Given the description of an element on the screen output the (x, y) to click on. 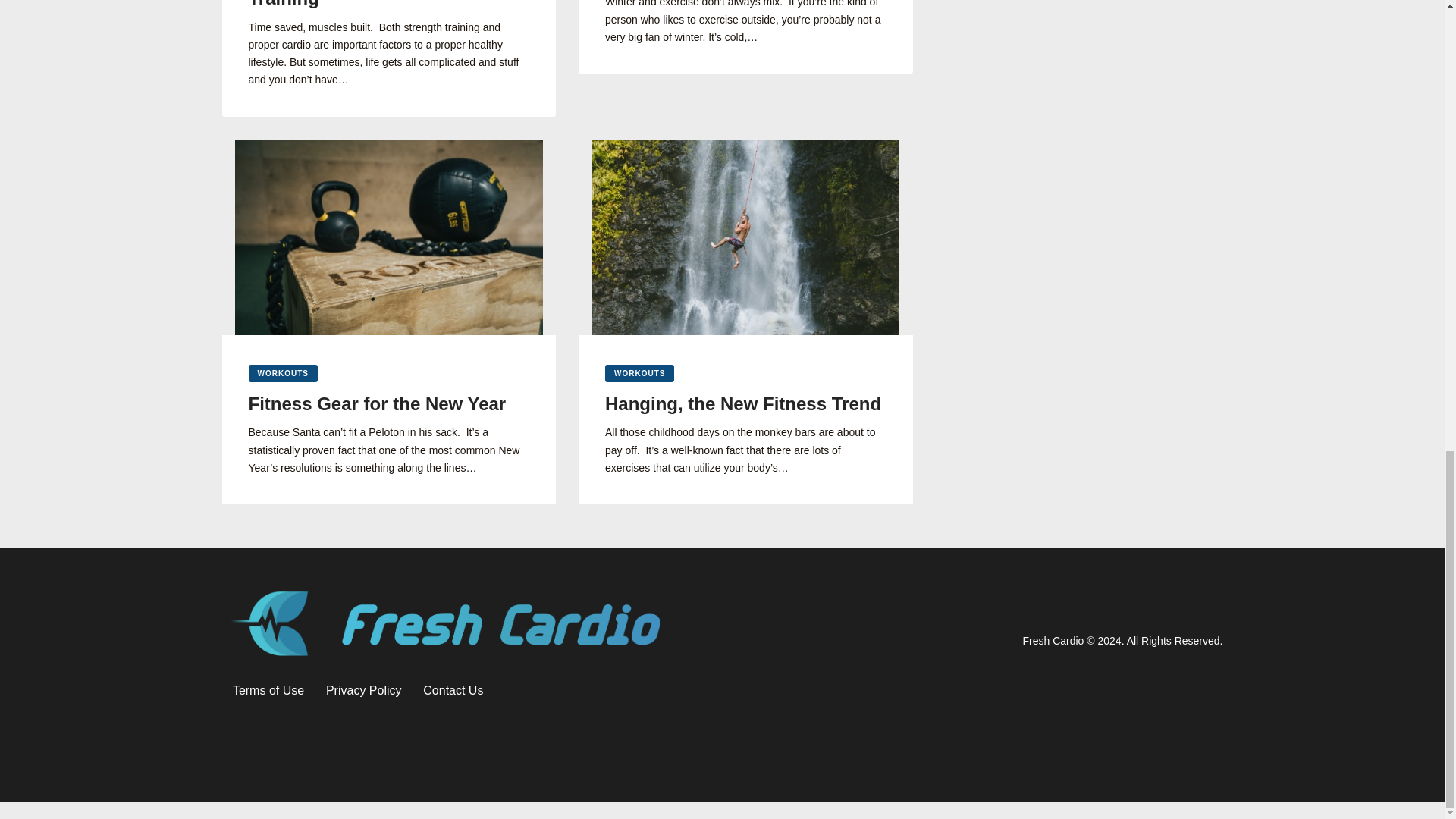
WORKOUTS (639, 373)
WORKOUTS (282, 373)
Hanging, the New Fitness Trend (745, 403)
Fitness Gear for the New Year (388, 403)
Combining Cardio and Strength Training (388, 5)
